Given the description of an element on the screen output the (x, y) to click on. 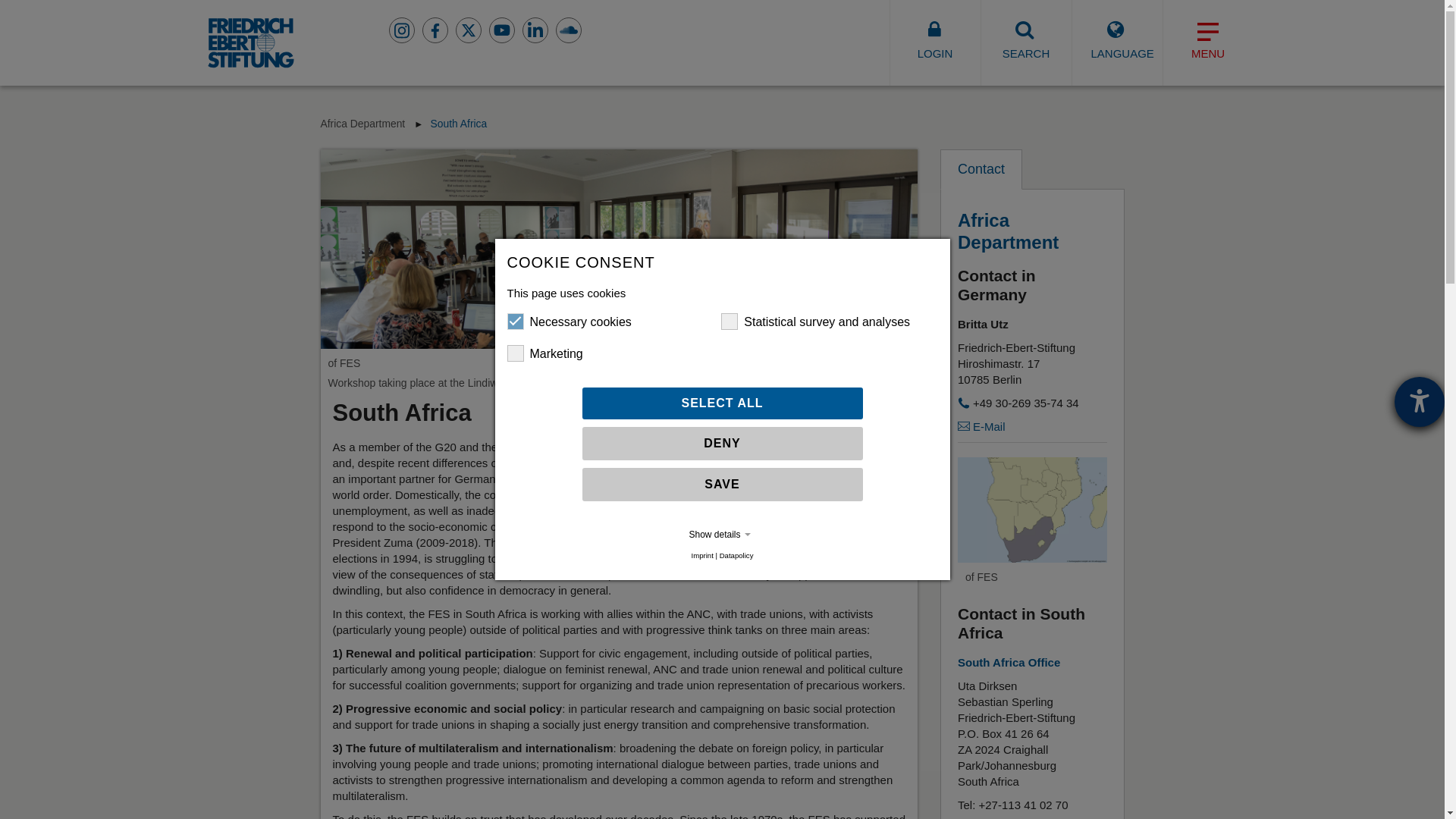
DENY (722, 443)
externer Link (1008, 662)
facebook (434, 30)
SAVE (722, 484)
SEARCH (1024, 42)
LinkedIn (534, 30)
E-Mail verschicken (982, 426)
Instagram (401, 30)
Show details (721, 534)
YouTube (501, 30)
